Given the description of an element on the screen output the (x, y) to click on. 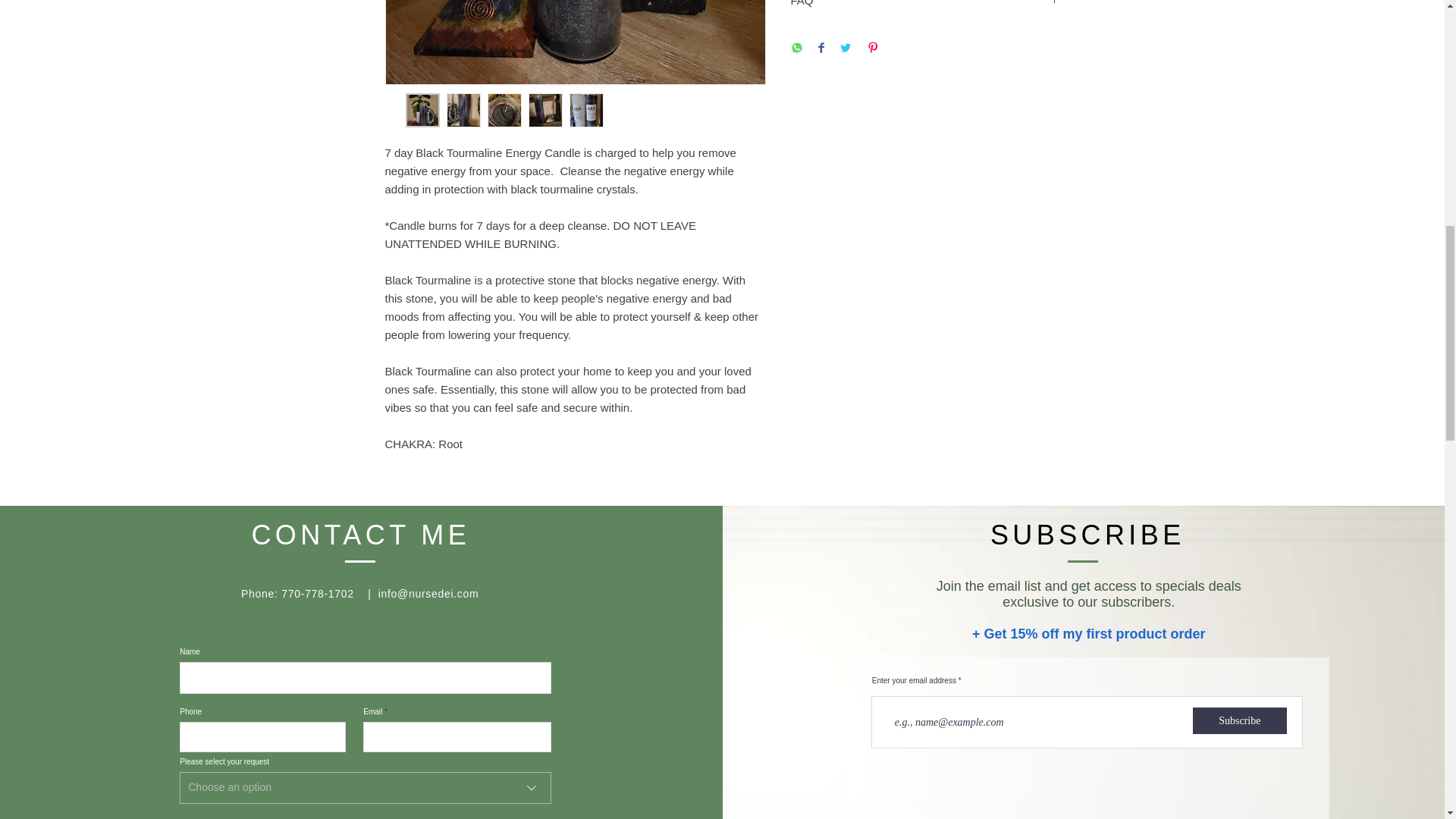
FAQ (924, 4)
